Given the description of an element on the screen output the (x, y) to click on. 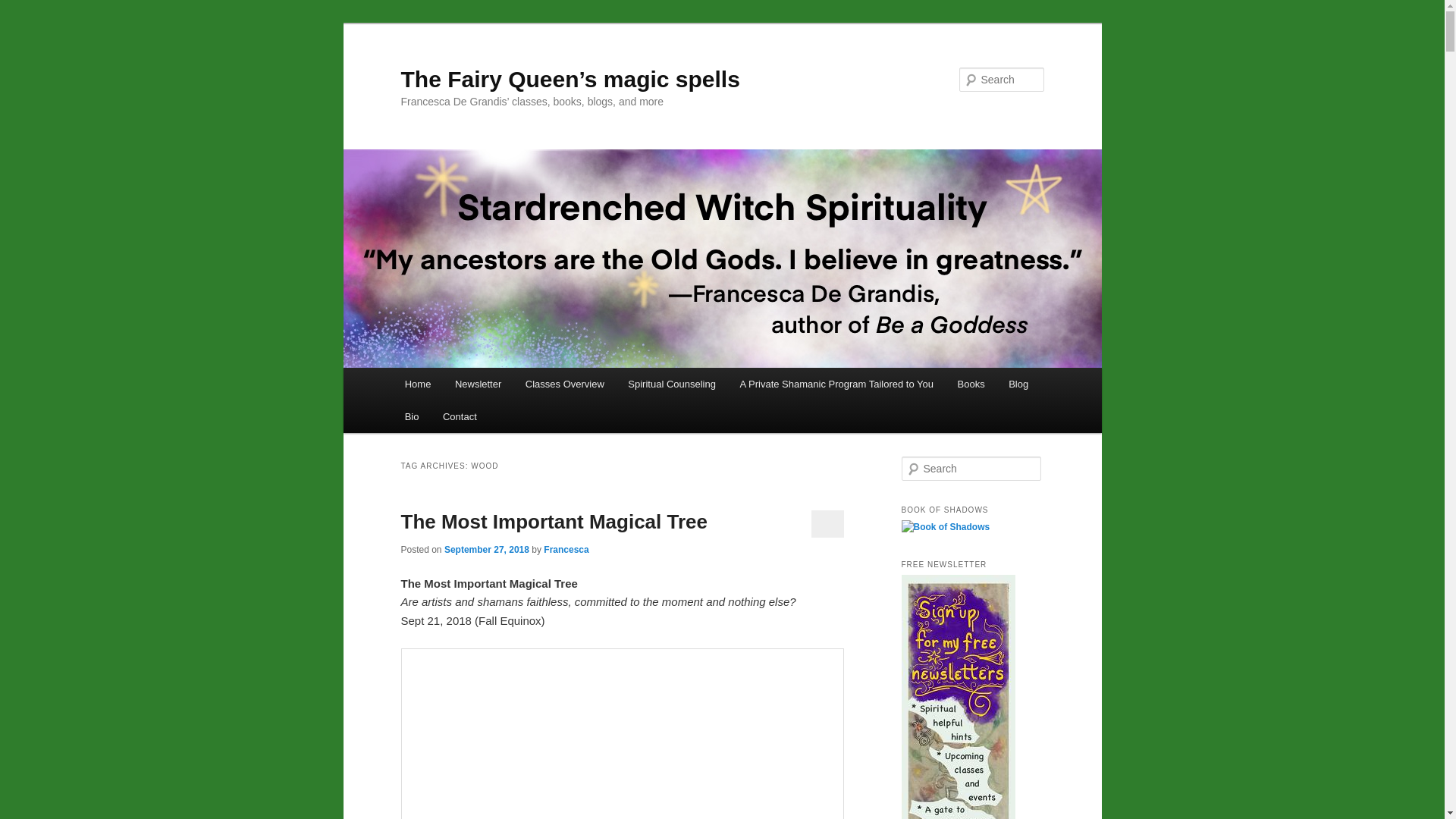
September 27, 2018 (486, 549)
7:47 pm (486, 549)
Newsletter (477, 383)
Bio (411, 416)
A Private Shamanic Program Tailored to You (836, 383)
Home (417, 383)
Contact (458, 416)
Search (24, 8)
Spiritual Counseling (671, 383)
Blog (1018, 383)
The Most Important Magical Tree (553, 521)
Francesca (565, 549)
Classes Overview (564, 383)
View all posts by Francesca (565, 549)
